Given the description of an element on the screen output the (x, y) to click on. 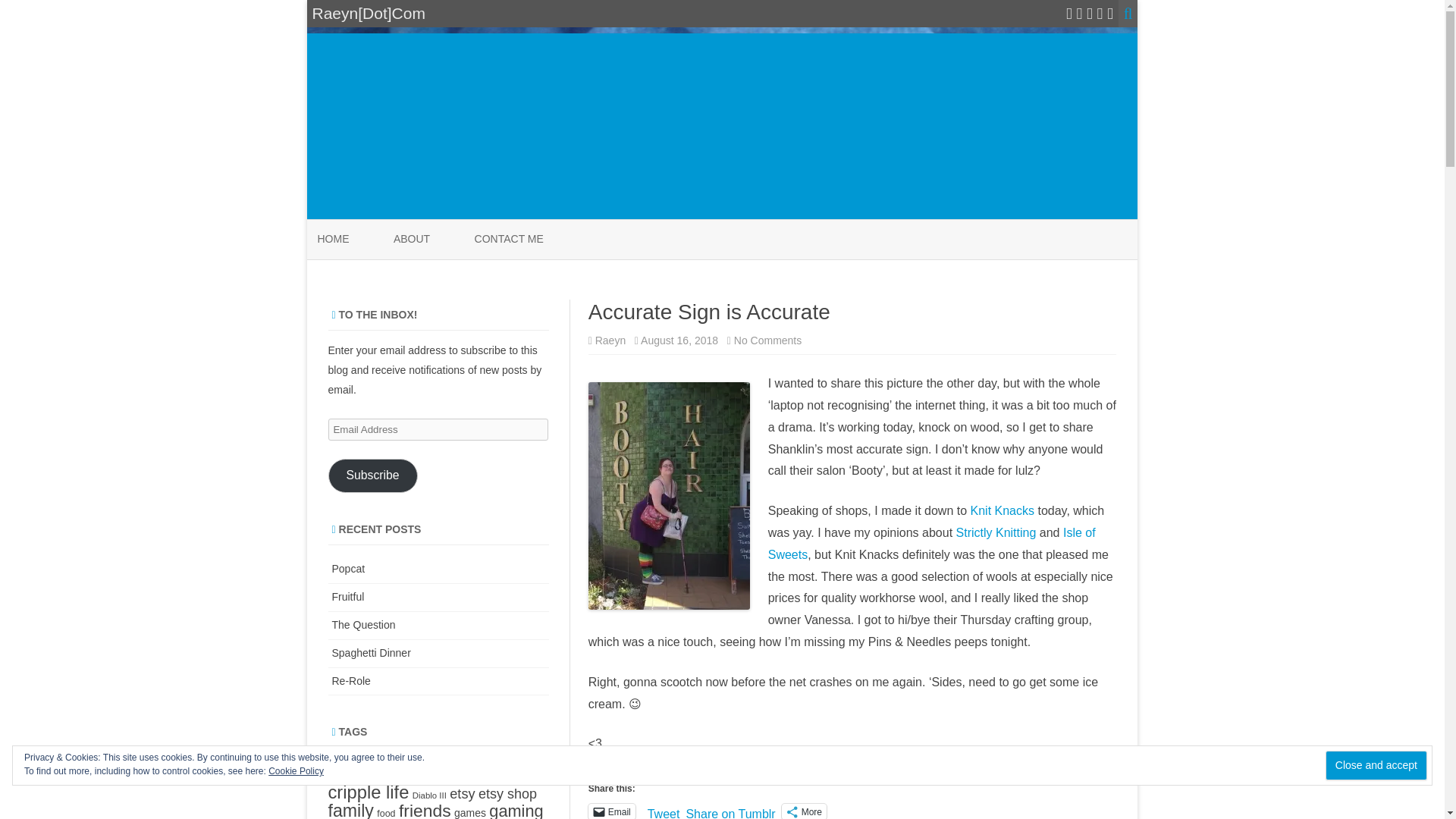
Email (611, 811)
Raeyn (610, 340)
Isle of Sweets (932, 543)
Strictly Knitting (996, 532)
Share on Tumblr (729, 810)
CONTACT ME (508, 239)
Knit Knacks (1002, 510)
Share on Tumblr (729, 810)
Tweet (663, 810)
Close and accept (1375, 765)
